Given the description of an element on the screen output the (x, y) to click on. 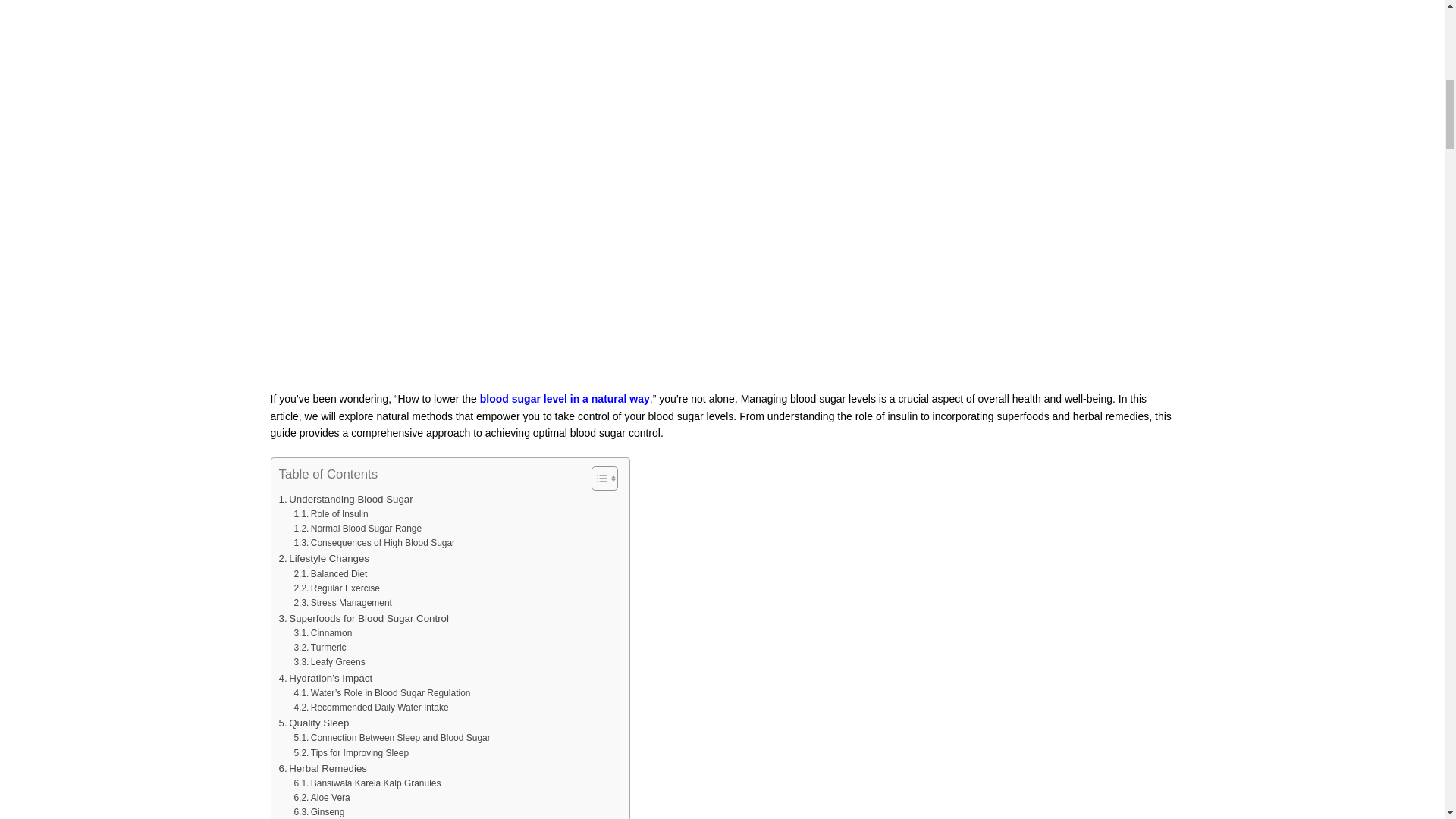
Consequences of High Blood Sugar (374, 543)
Lifestyle Changes (324, 558)
Understanding Blood Sugar (346, 498)
Normal Blood Sugar Range (358, 528)
Role of Insulin (331, 513)
Balanced Diet (330, 574)
Stress Management (342, 603)
Regular Exercise (337, 588)
